Given the description of an element on the screen output the (x, y) to click on. 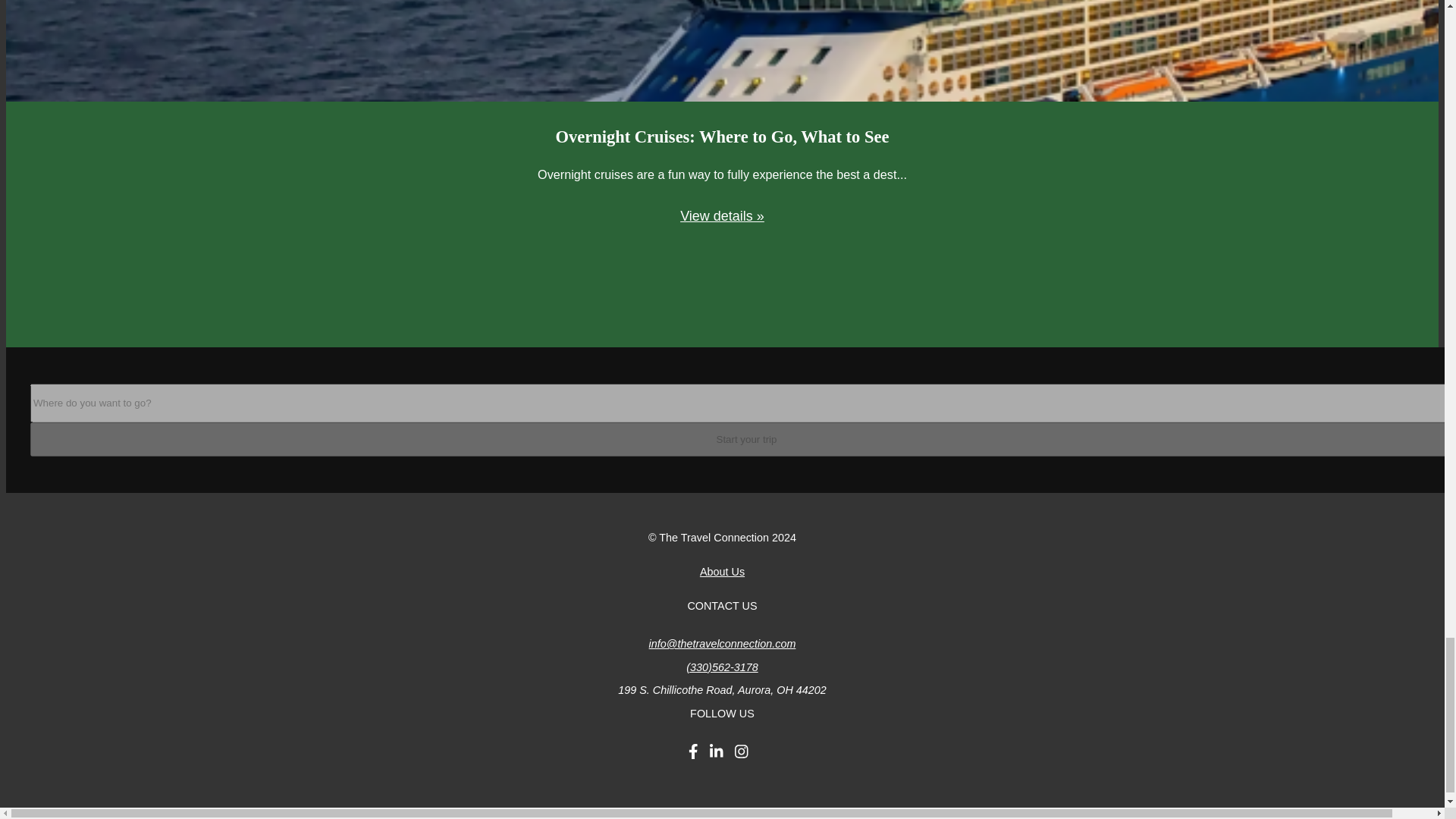
Start your trip (743, 439)
About Us (722, 571)
